Given the description of an element on the screen output the (x, y) to click on. 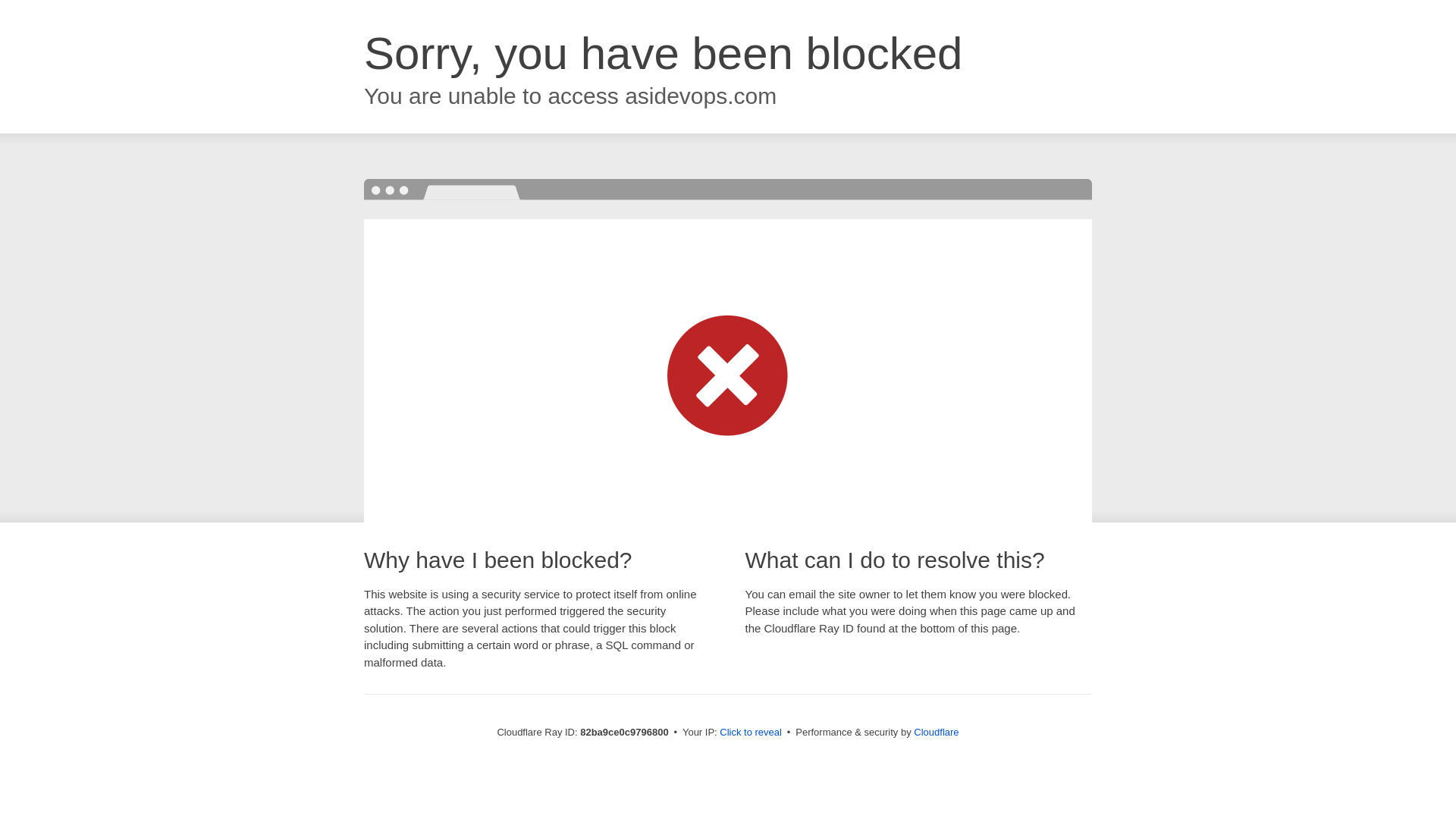
Click to reveal Element type: text (750, 732)
Cloudflare Element type: text (935, 731)
